Given the description of an element on the screen output the (x, y) to click on. 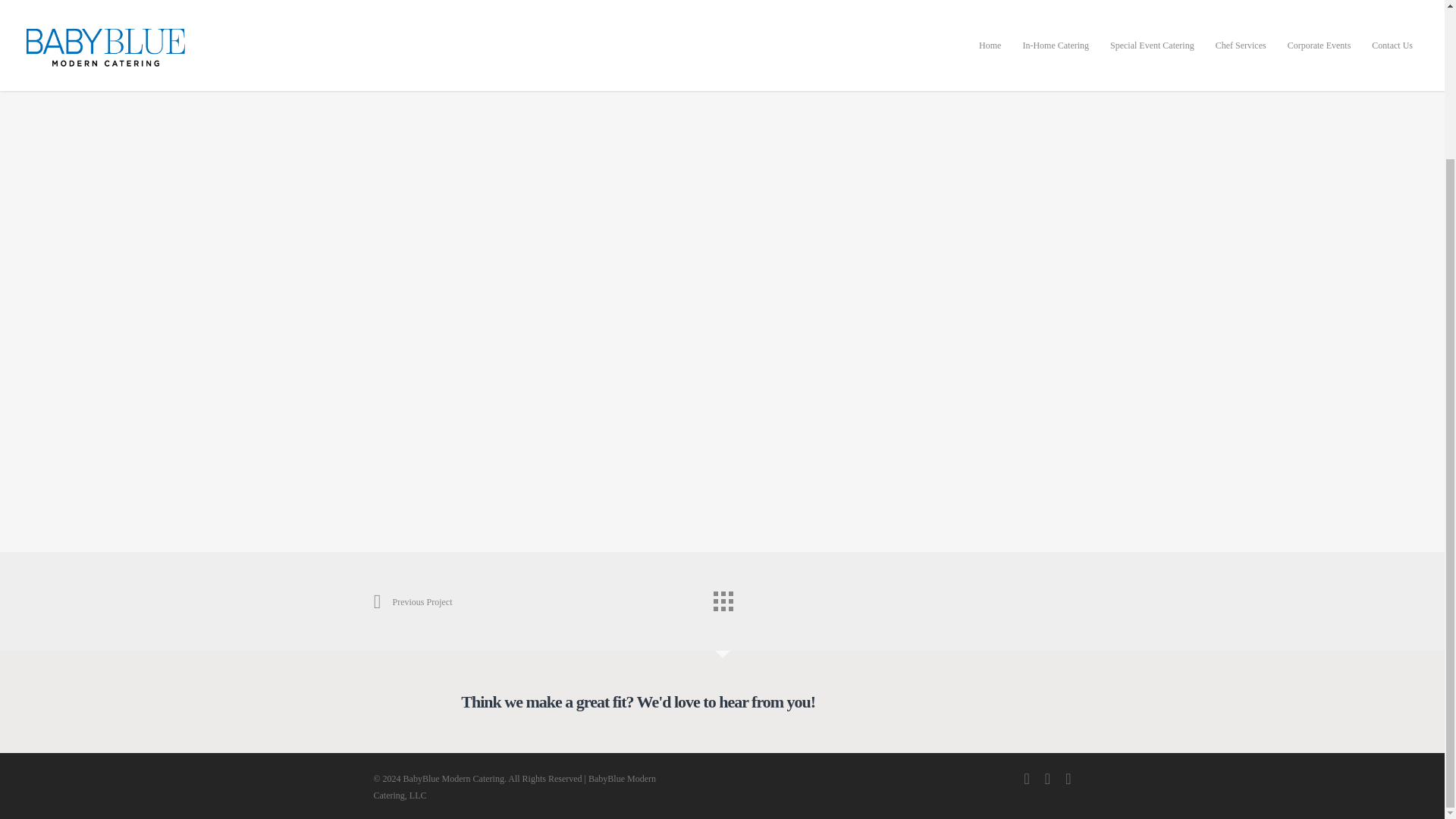
Previous Project (411, 601)
Back to all projects (721, 597)
Submit Comment (722, 466)
